Given the description of an element on the screen output the (x, y) to click on. 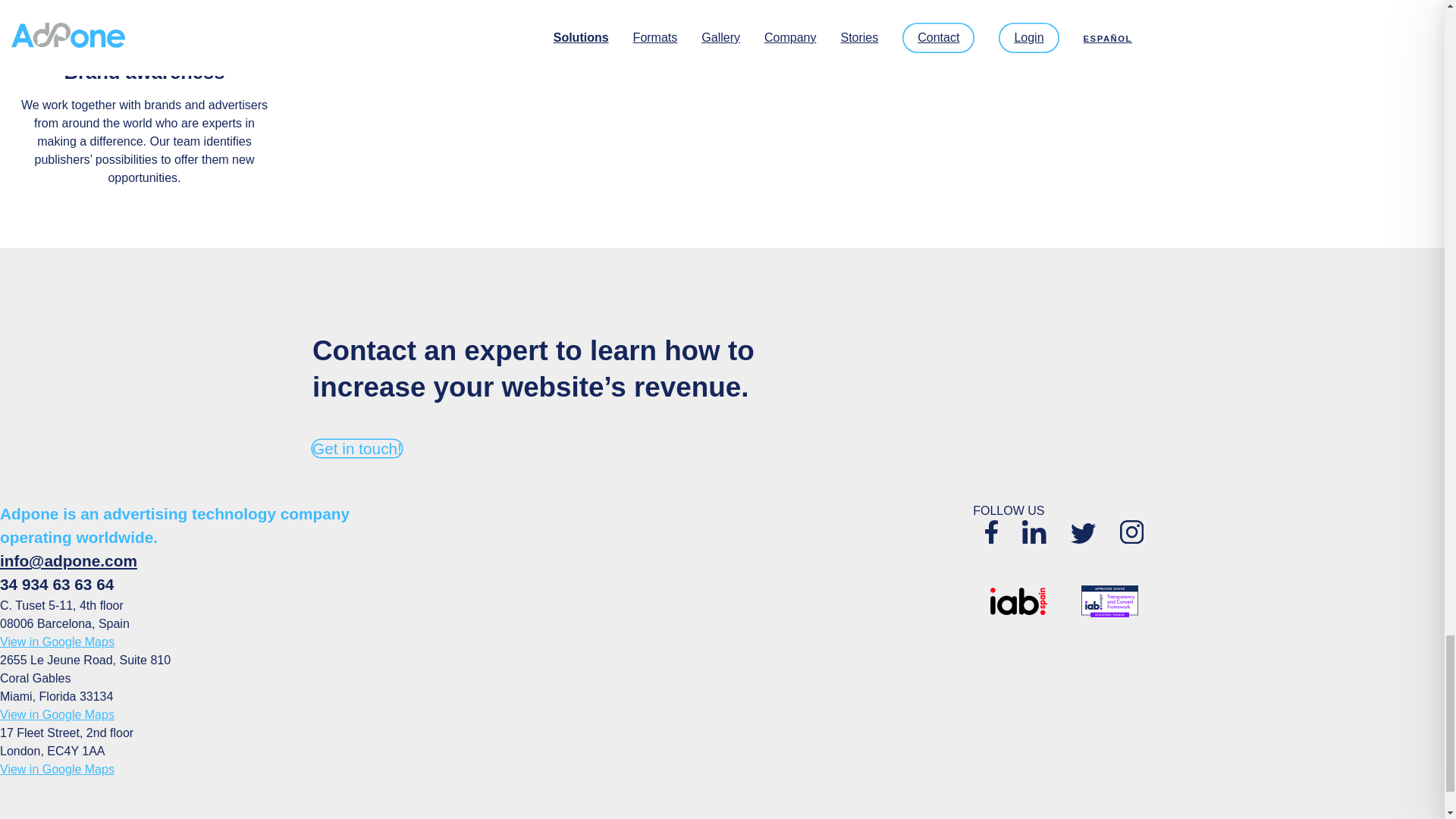
View in Google Maps (57, 714)
Get in touch! (357, 448)
View in Google Maps (57, 768)
View in Google Maps (57, 641)
Privacy policy (577, 818)
